Given the description of an element on the screen output the (x, y) to click on. 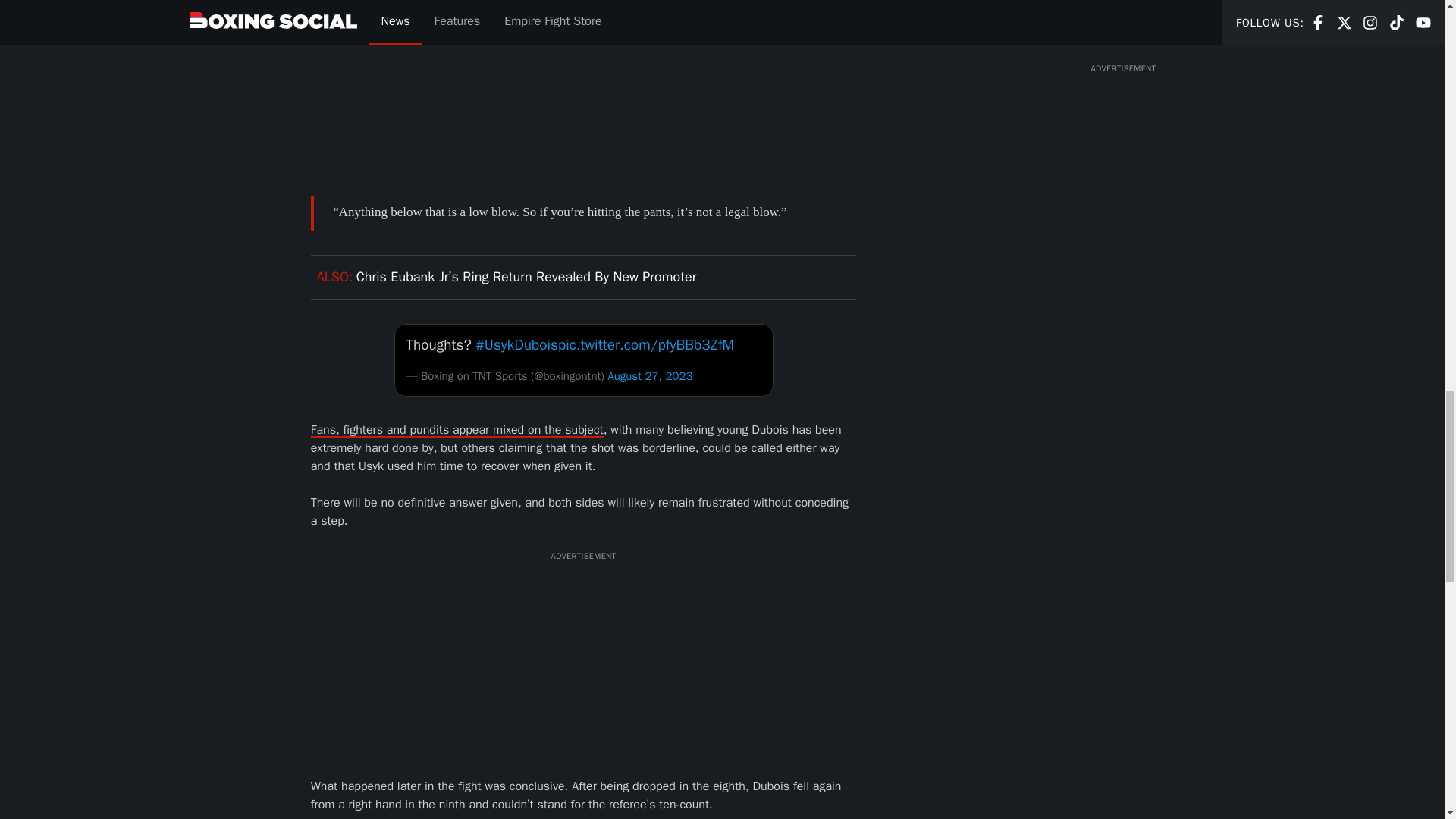
Fans, fighters and pundits appear mixed on the subject (457, 429)
August 27, 2023 (650, 376)
